Given the description of an element on the screen output the (x, y) to click on. 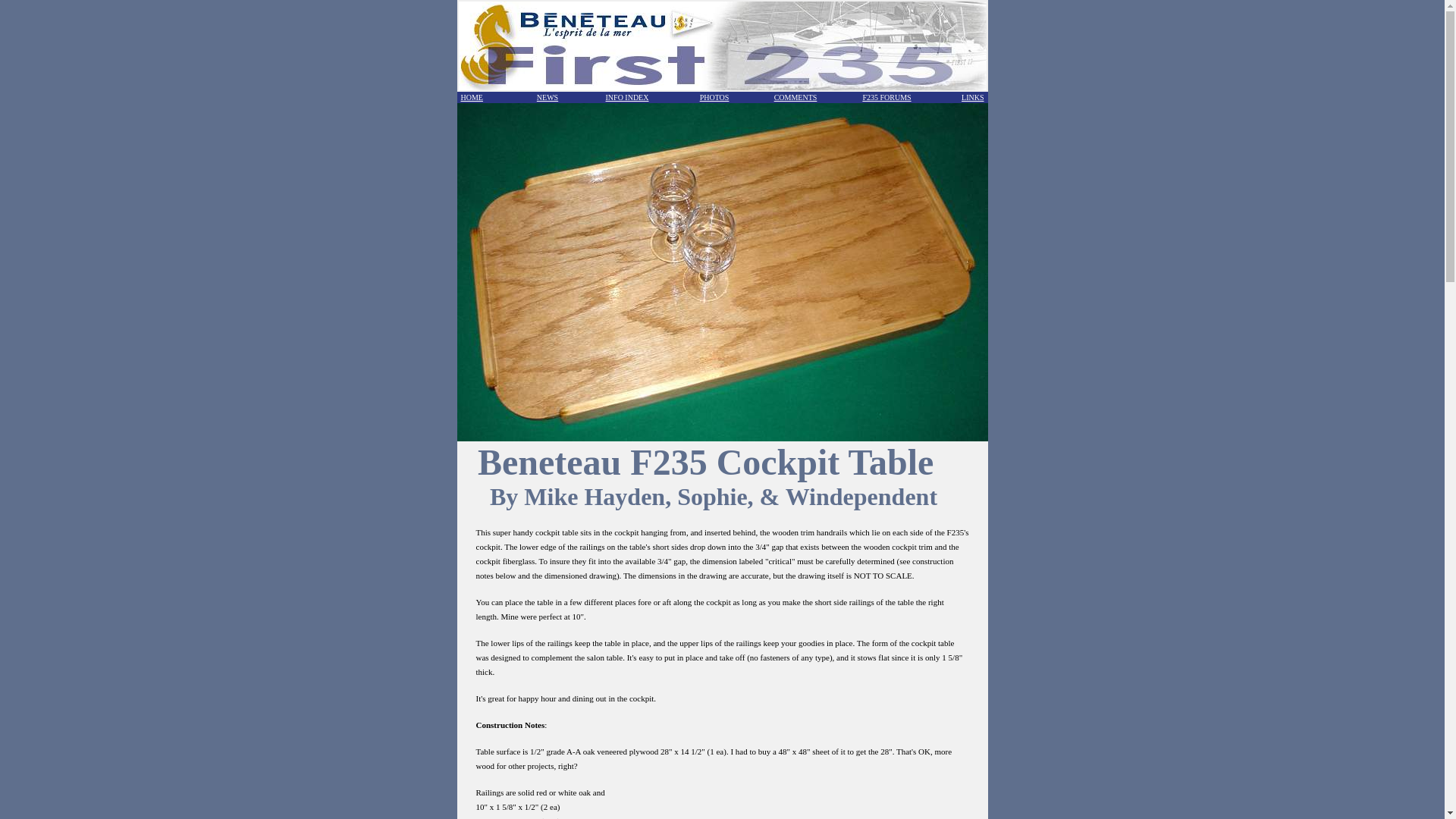
PHOTOS (714, 97)
INFO INDEX (627, 97)
LINKS (972, 97)
F235 FORUMS (886, 97)
NEWS (547, 97)
COMMENTS (795, 97)
HOME (472, 97)
